Given the description of an element on the screen output the (x, y) to click on. 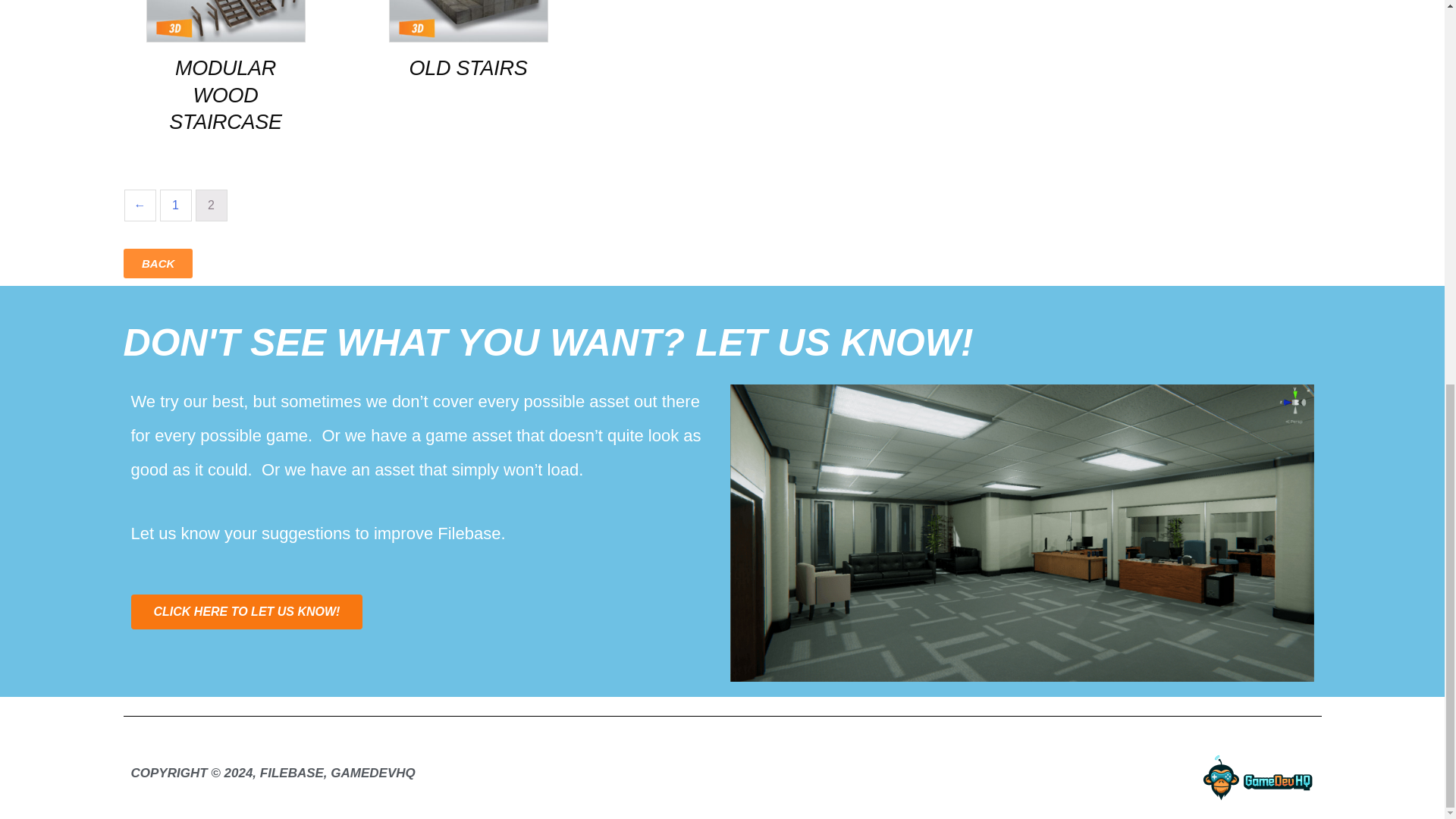
MODULAR WOOD STAIRCASE (224, 95)
BACK (157, 263)
1 (175, 205)
OLD STAIRS (467, 68)
CLICK HERE TO LET US KNOW! (246, 611)
